Given the description of an element on the screen output the (x, y) to click on. 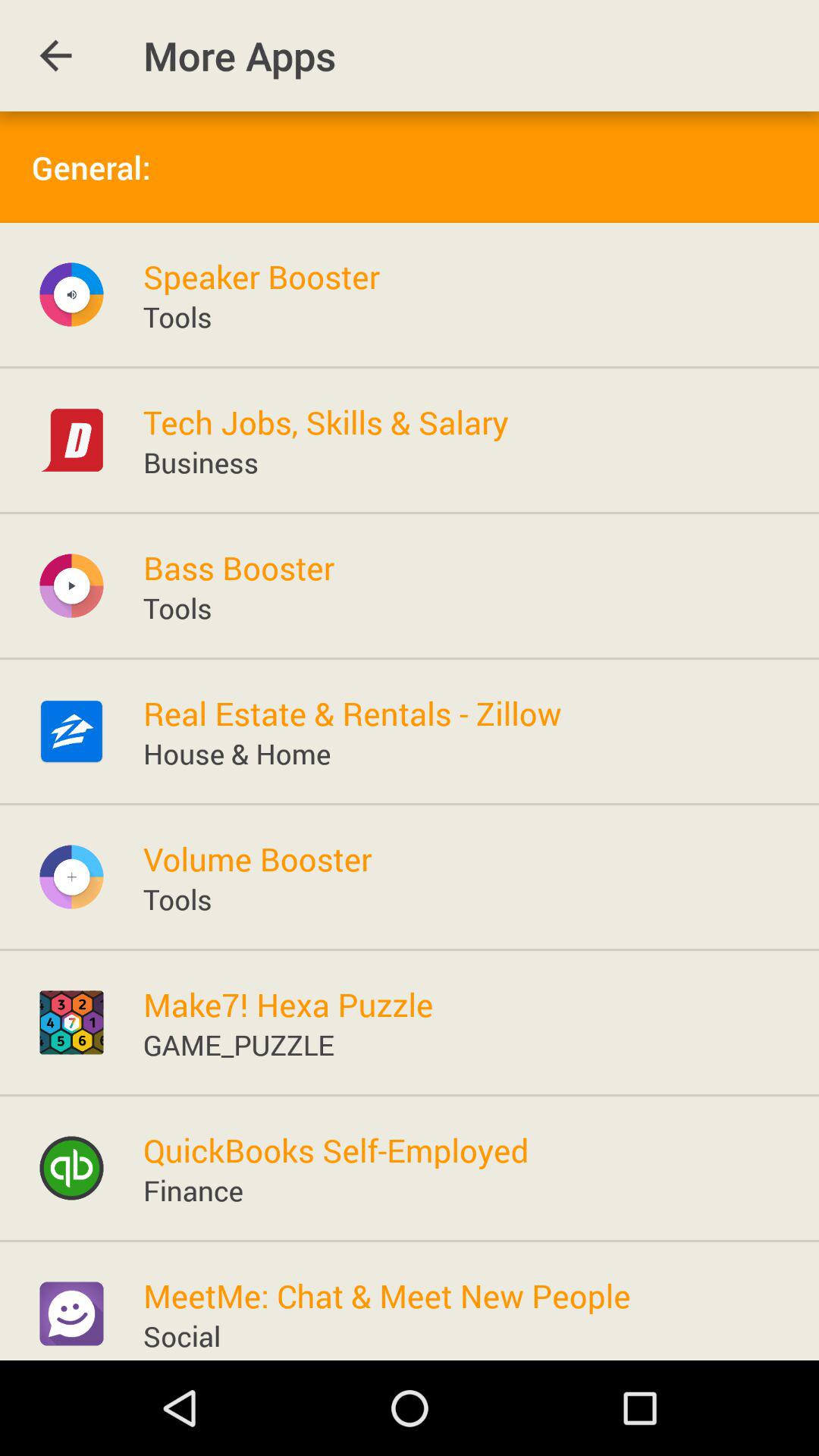
choose the item above meetme chat meet icon (193, 1189)
